Given the description of an element on the screen output the (x, y) to click on. 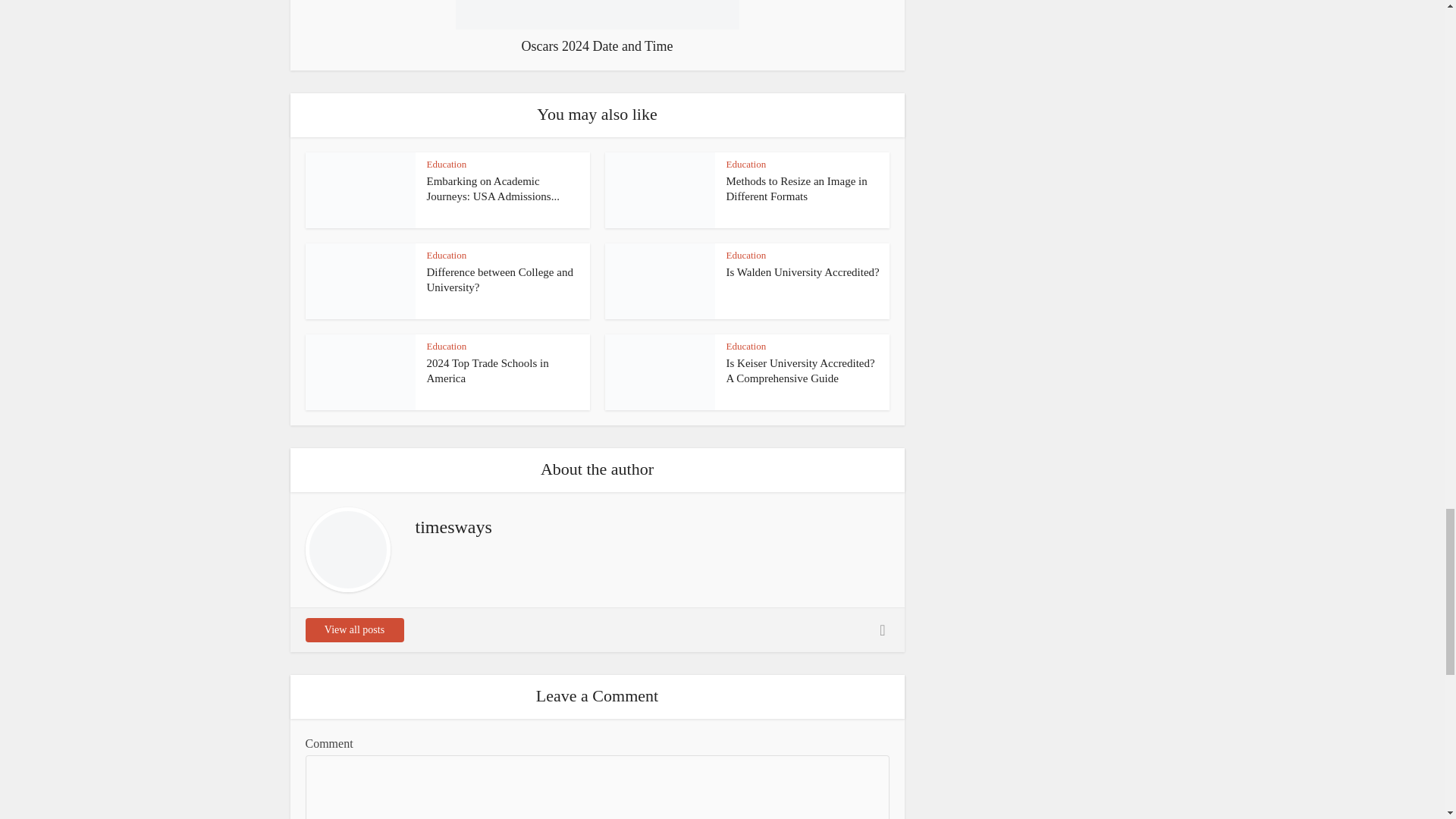
Is Walden University Accredited? (802, 272)
2024 Top Trade Schools in America (487, 370)
Education (445, 163)
Education (445, 255)
Education (746, 163)
Embarking on Academic Journeys: USA Admissions... (492, 188)
Methods to Resize an Image in Different Formats (796, 188)
Methods to Resize an Image in Different Formats (796, 188)
Difference between College and University? (499, 279)
Oscars 2024 Date and Time (596, 27)
